Given the description of an element on the screen output the (x, y) to click on. 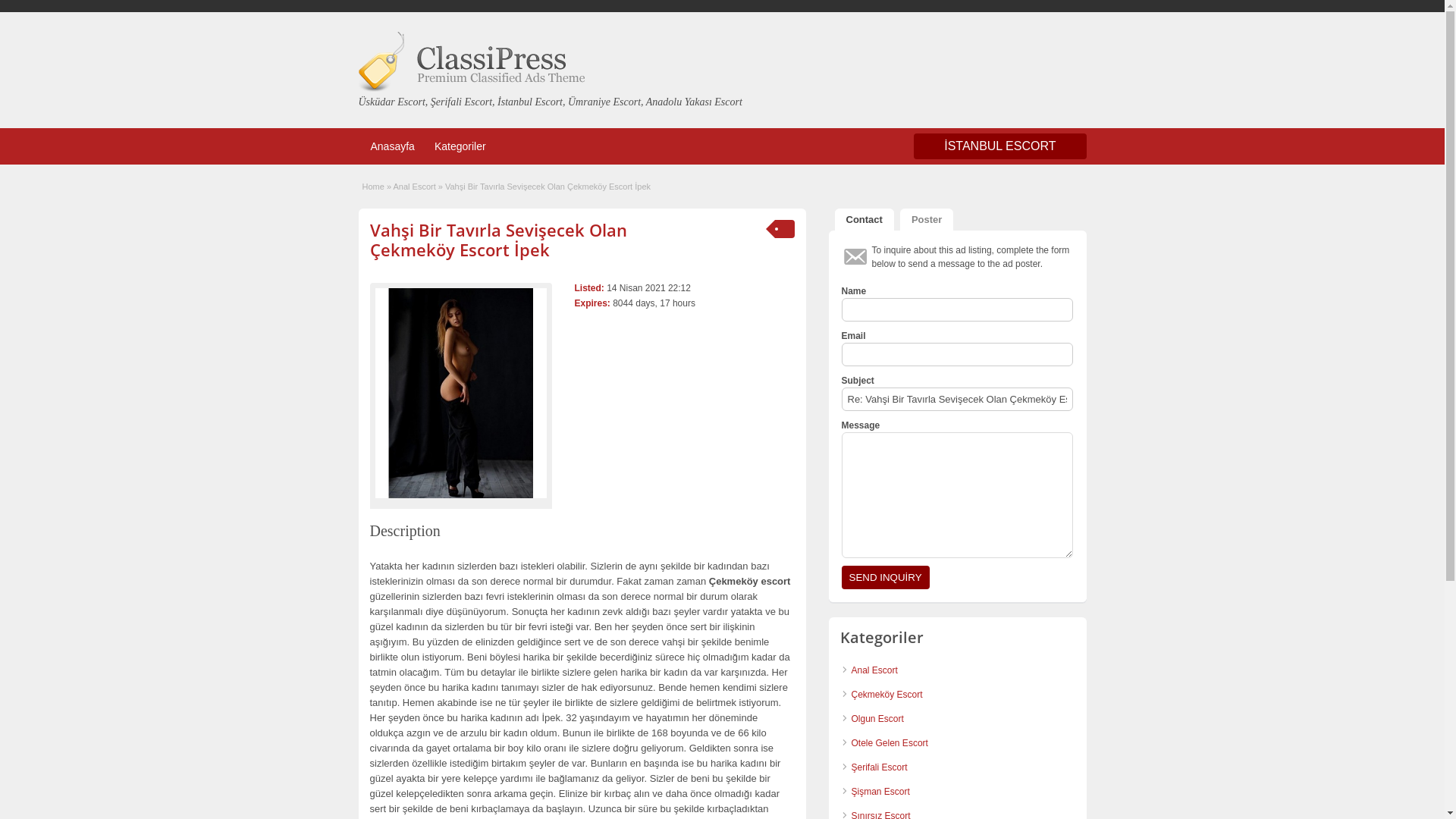
Otele Gelen Escort Element type: text (888, 742)
Send Inquiry Element type: text (885, 577)
Poster Element type: text (926, 219)
Anasayfa Element type: text (391, 145)
Olgun Escort Element type: text (876, 718)
Home Element type: text (373, 186)
Anal Escort Element type: text (413, 186)
Contact Element type: text (863, 219)
Kategoriler Element type: text (459, 145)
Anal Escort Element type: text (873, 670)
